Given the description of an element on the screen output the (x, y) to click on. 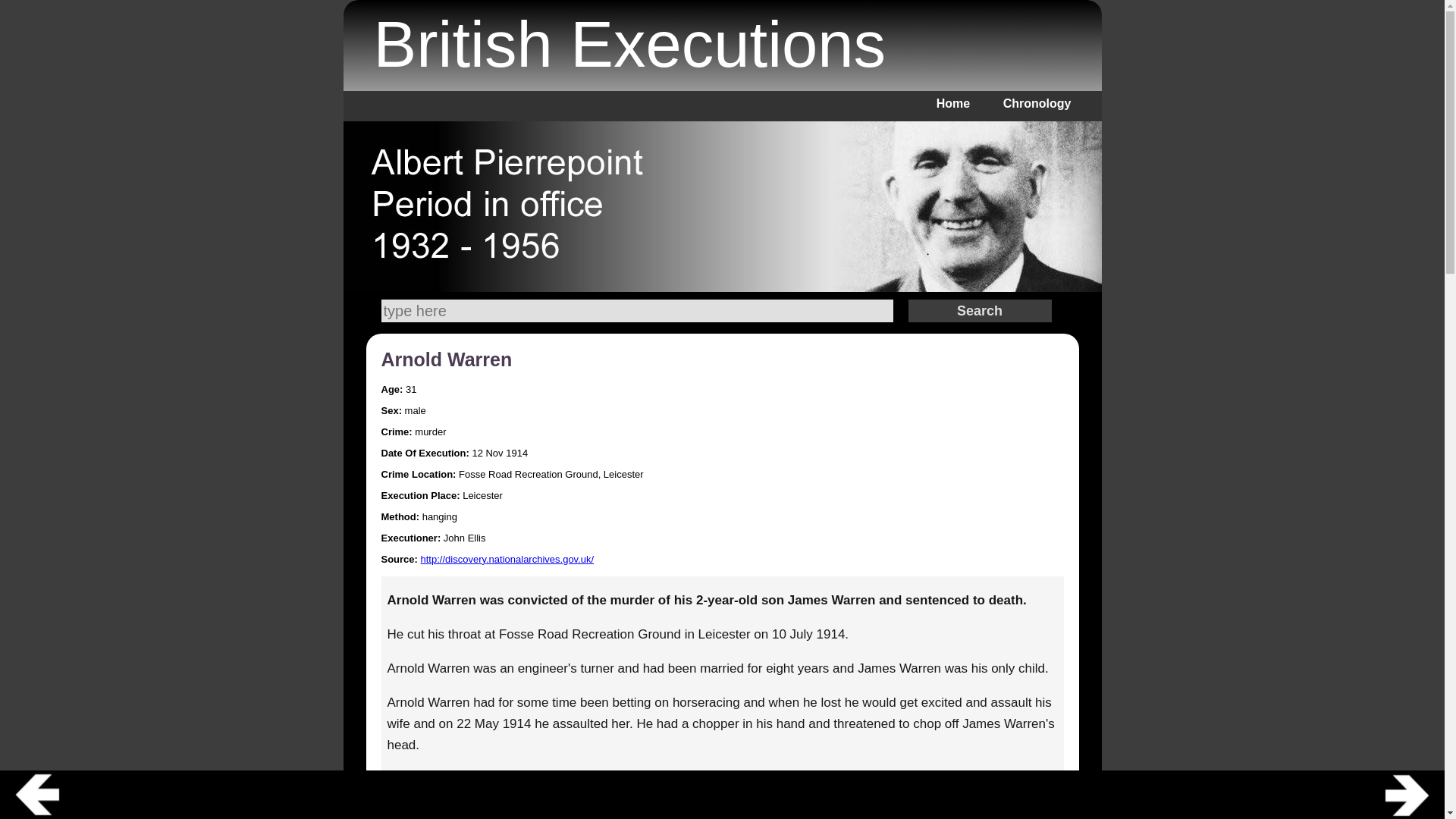
Chronology (1037, 103)
Search (979, 310)
Fosse Road Recreation Ground, Leicester (550, 473)
Home (952, 103)
Search (979, 310)
Search (636, 310)
Arnold Warren (446, 359)
